Given the description of an element on the screen output the (x, y) to click on. 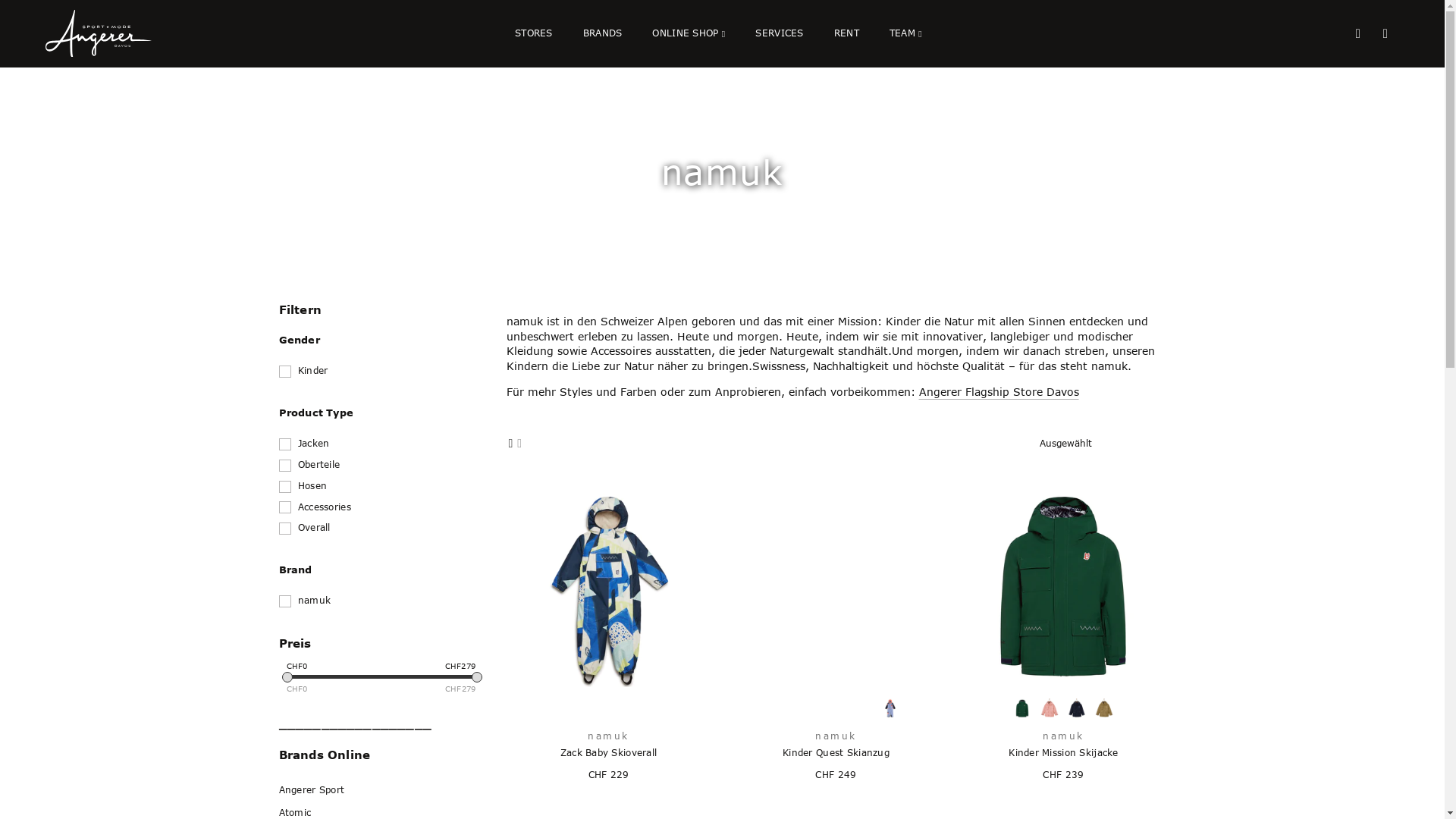
Sunset Rose Galaxy Element type: hover (1049, 707)
Mountain green Element type: hover (1021, 707)
BRANDS Element type: text (602, 33)
TEAM Element type: text (905, 33)
Sunset Rose Galaxy Element type: hover (862, 707)
List View Element type: hover (519, 442)
Blue marin Element type: hover (594, 707)
Blue Marin Element type: hover (808, 707)
SERVICES Element type: text (778, 33)
Angerer Flagship Store Davos Element type: text (999, 391)
Grid View Element type: hover (510, 442)
Suchen Element type: hover (1357, 32)
Einkaufswagen Element type: hover (1385, 32)
STORES Element type: text (533, 33)
True navy / Corporate red Element type: hover (780, 707)
Gold Element type: hover (1103, 707)
Purple blue / Coral Element type: hover (889, 707)
True navy / Sunsest rose Element type: hover (835, 707)
RENT Element type: text (846, 33)
ONLINE SHOP Element type: text (688, 33)
Kinder Quest Skianzug Element type: text (835, 752)
ANGERER SPORT & MODE Element type: text (109, 33)
True Navy Element type: hover (1076, 707)
Angerer Sport Element type: text (312, 789)
True navy Element type: hover (621, 707)
Zack Baby Skioverall Element type: text (608, 752)
Kinder Mission Skijacke Element type: text (1063, 752)
